Given the description of an element on the screen output the (x, y) to click on. 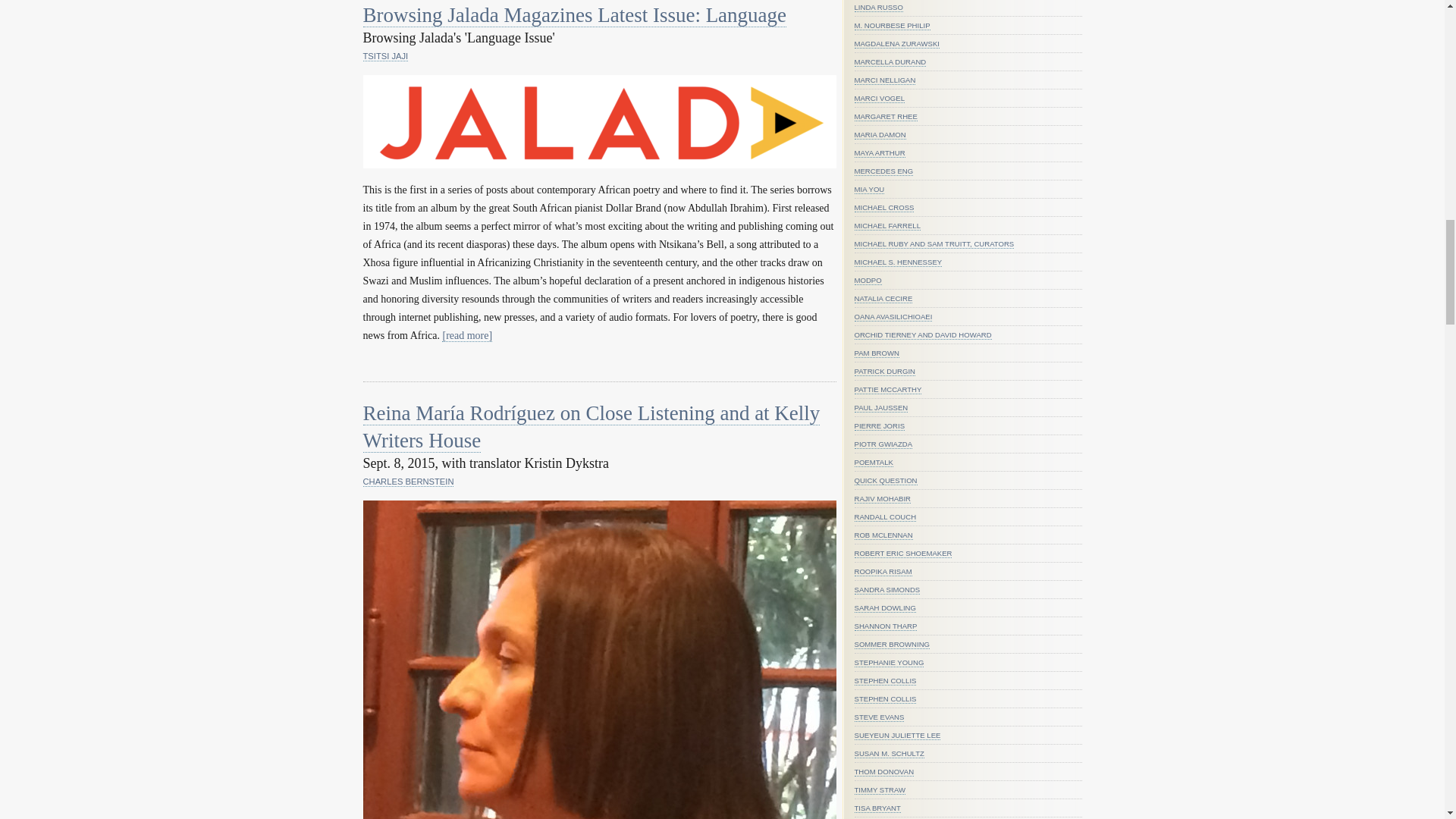
TSITSI JAJI (384, 56)
CHARLES BERNSTEIN (407, 481)
Browsing Jalada Magazines Latest Issue: Language (574, 15)
read more (467, 336)
